Given the description of an element on the screen output the (x, y) to click on. 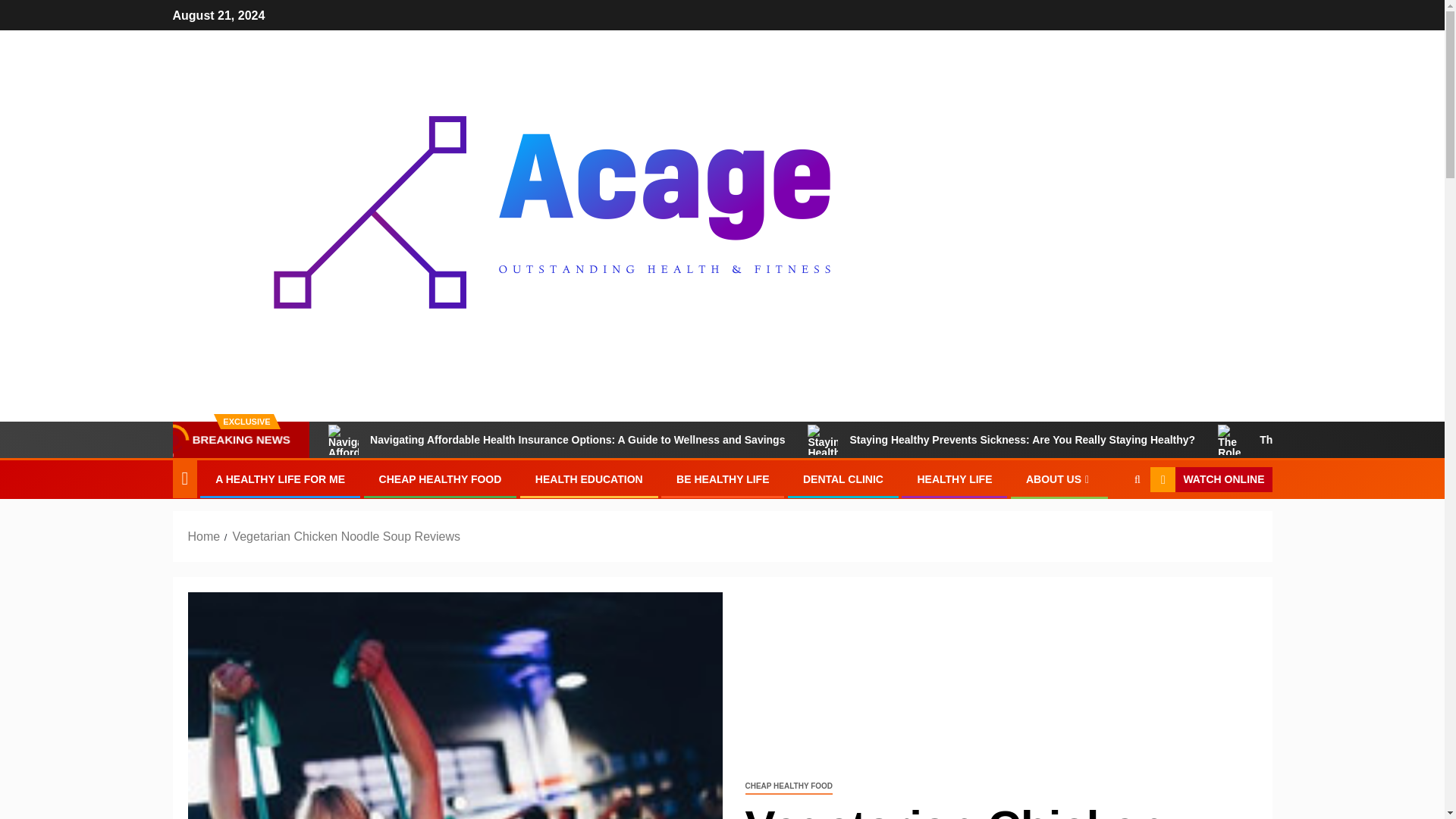
ABOUT US (1059, 479)
DENTAL CLINIC (843, 479)
Vegetarian Chicken Noodle Soup Reviews (454, 705)
BE HEALTHY LIFE (722, 479)
Home (204, 535)
HEALTHY LIFE (954, 479)
CHEAP HEALTHY FOOD (788, 786)
Vegetarian Chicken Noodle Soup Reviews (345, 535)
